Given the description of an element on the screen output the (x, y) to click on. 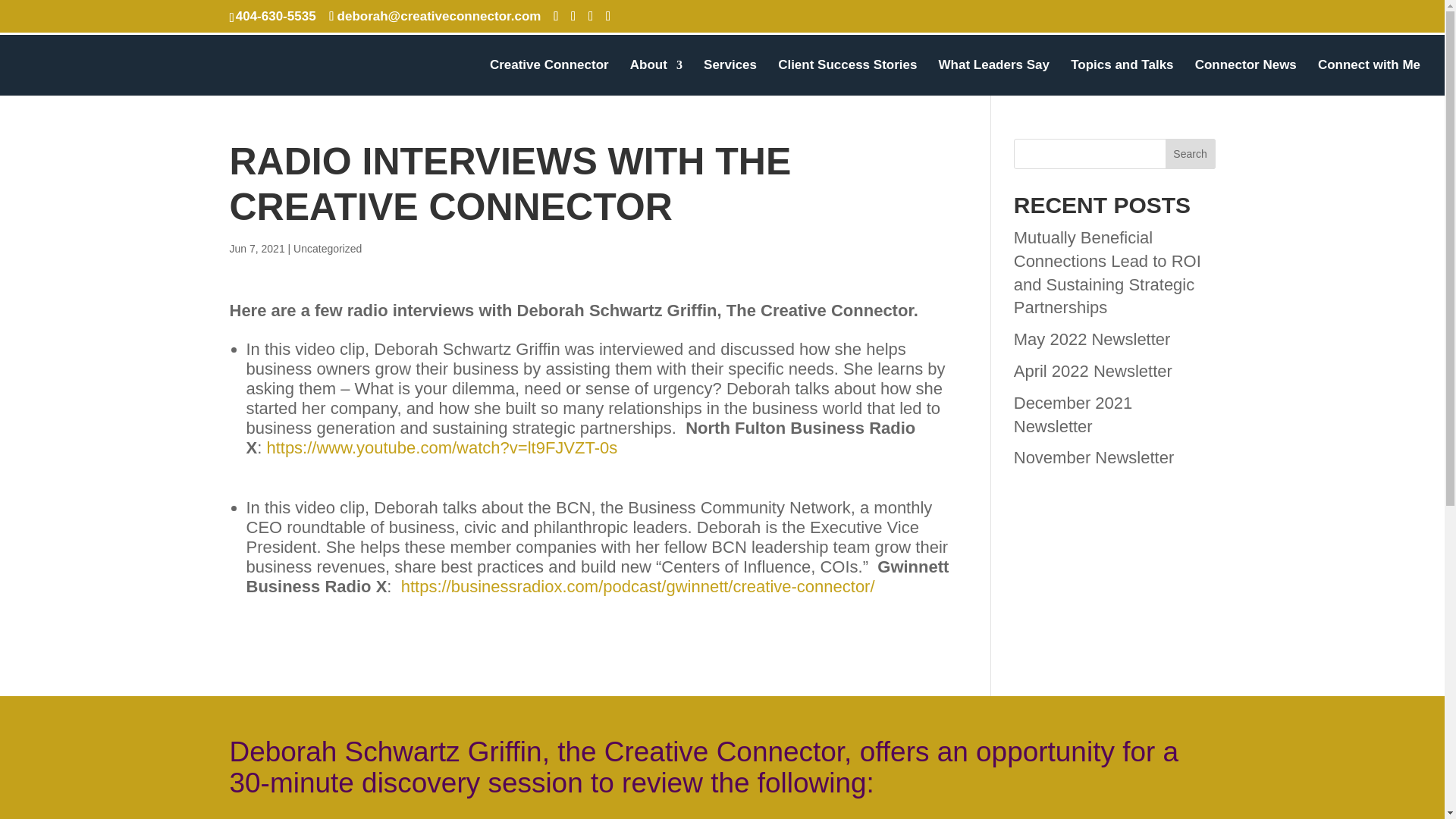
Search (1190, 153)
Uncategorized (327, 248)
May 2022 Newsletter (1091, 339)
About (656, 76)
Connect with Me (1369, 76)
What Leaders Say (994, 76)
Creative Connector (548, 76)
Topics and Talks (1121, 76)
December 2021 Newsletter (1072, 414)
Search (1190, 153)
April 2022 Newsletter (1092, 370)
Connector News (1246, 76)
Client Success Stories (847, 76)
Services (730, 76)
